Given the description of an element on the screen output the (x, y) to click on. 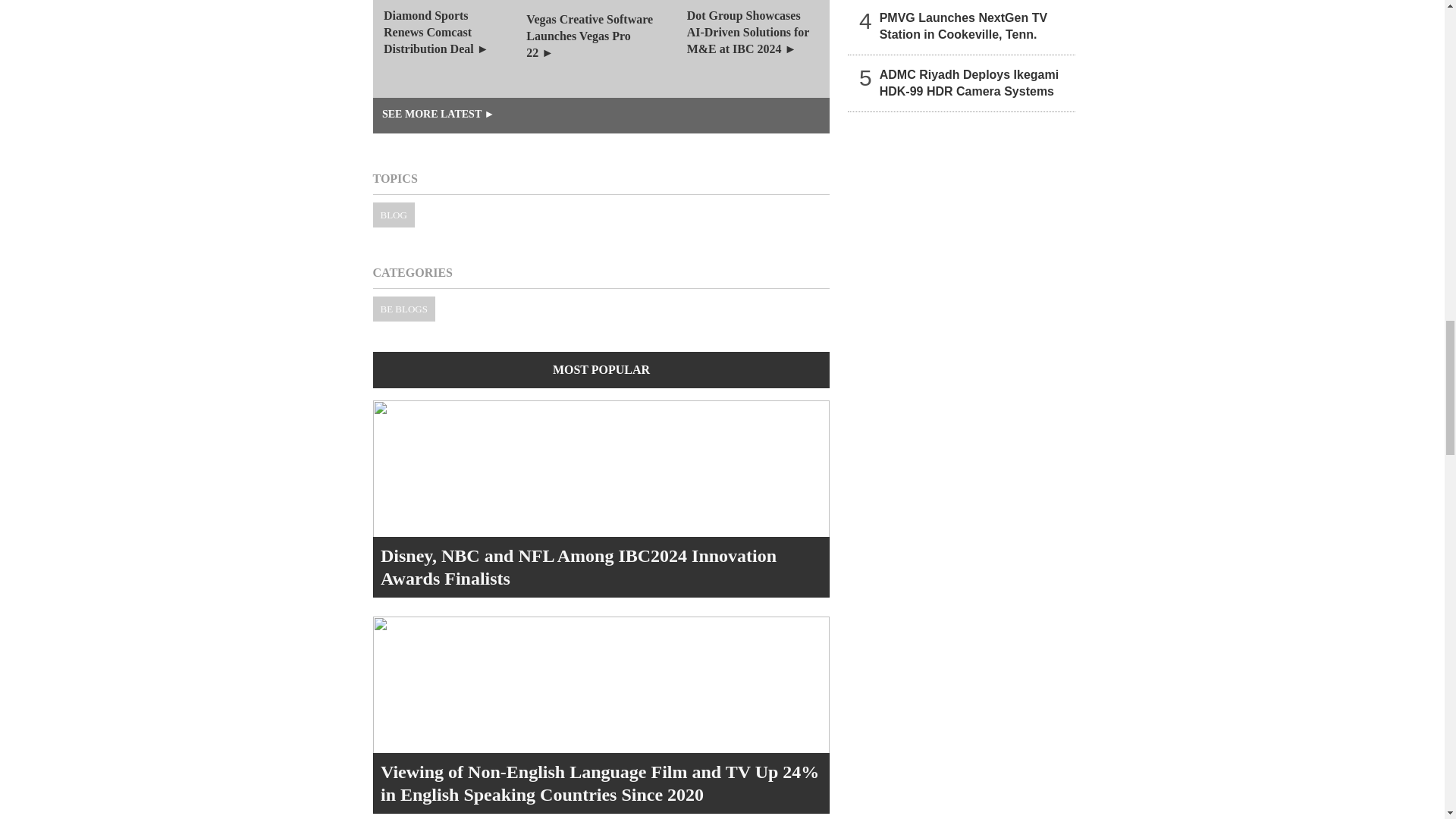
Vegas Creative Software Launches Vegas Pro 22 (600, 48)
BE BLOGS (403, 308)
Diamond Sports Renews Comcast Distribution Deal (448, 48)
BLOG (393, 214)
